Given the description of an element on the screen output the (x, y) to click on. 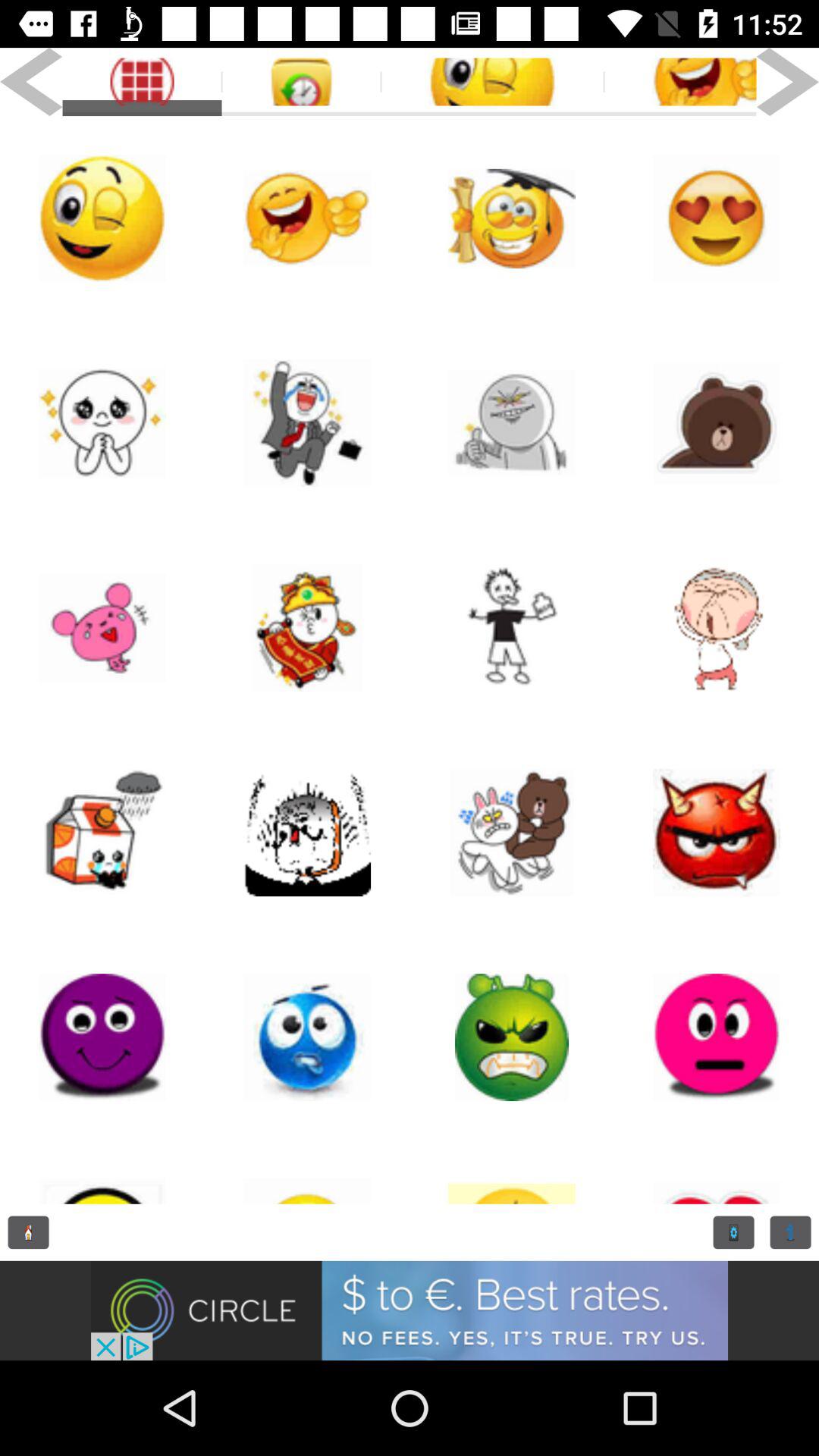
select icon (511, 832)
